Given the description of an element on the screen output the (x, y) to click on. 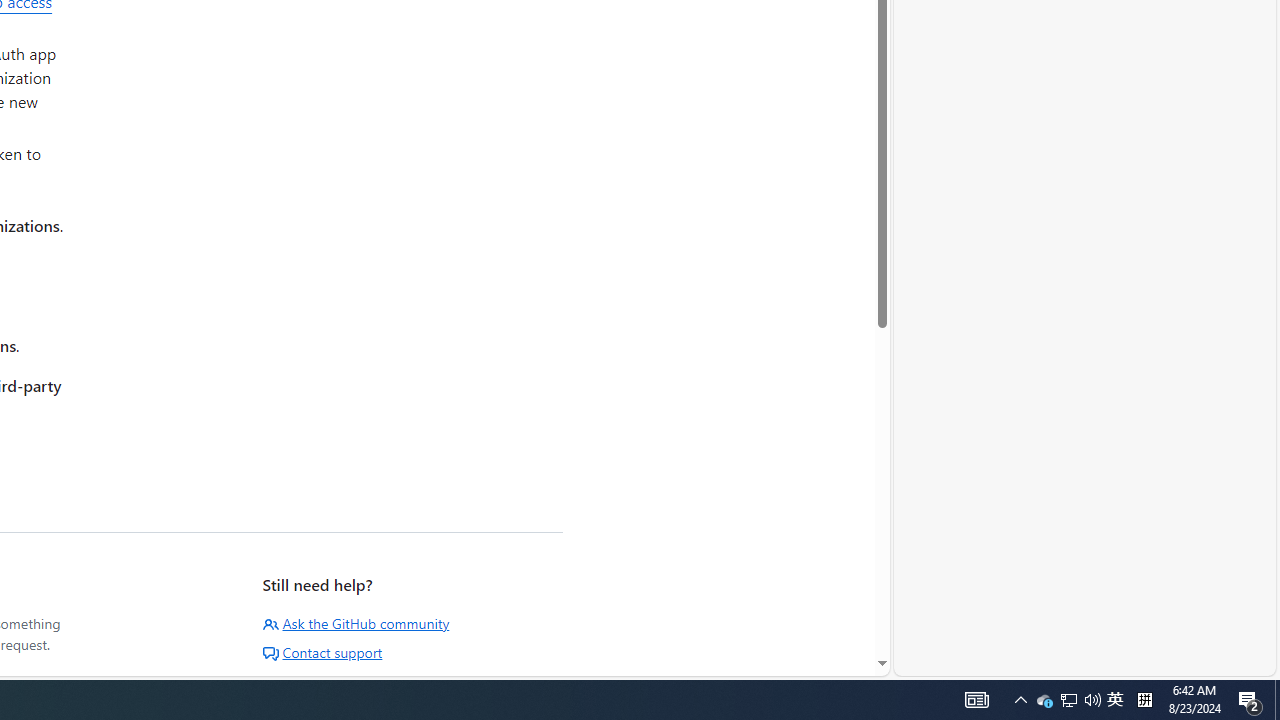
Scroll to top (831, 632)
Ask the GitHub community (356, 623)
Scroll to top (831, 632)
Contact support (322, 651)
